Given the description of an element on the screen output the (x, y) to click on. 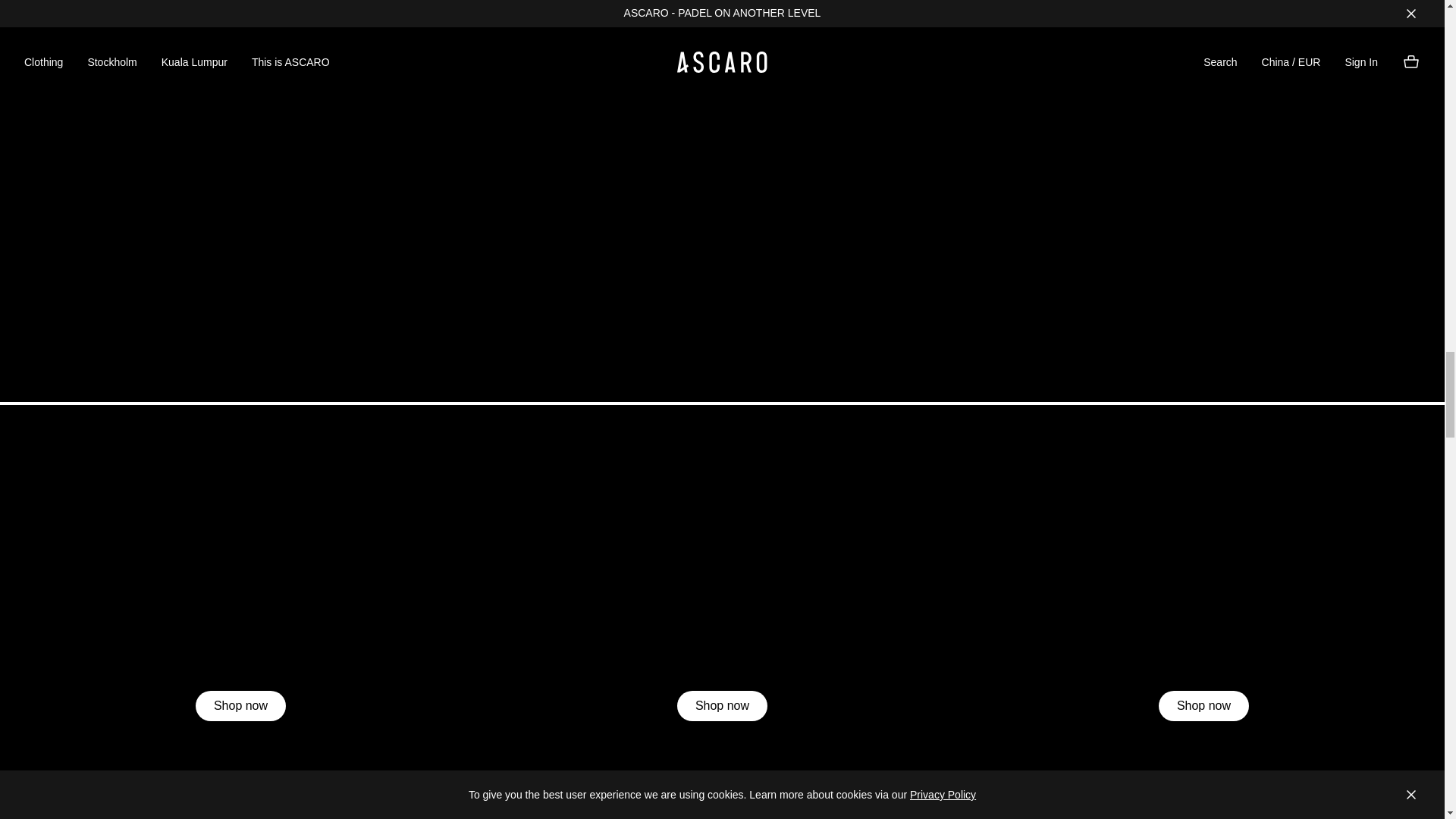
Shop now (240, 706)
Shop now (1203, 706)
Shop now (722, 706)
